Given the description of an element on the screen output the (x, y) to click on. 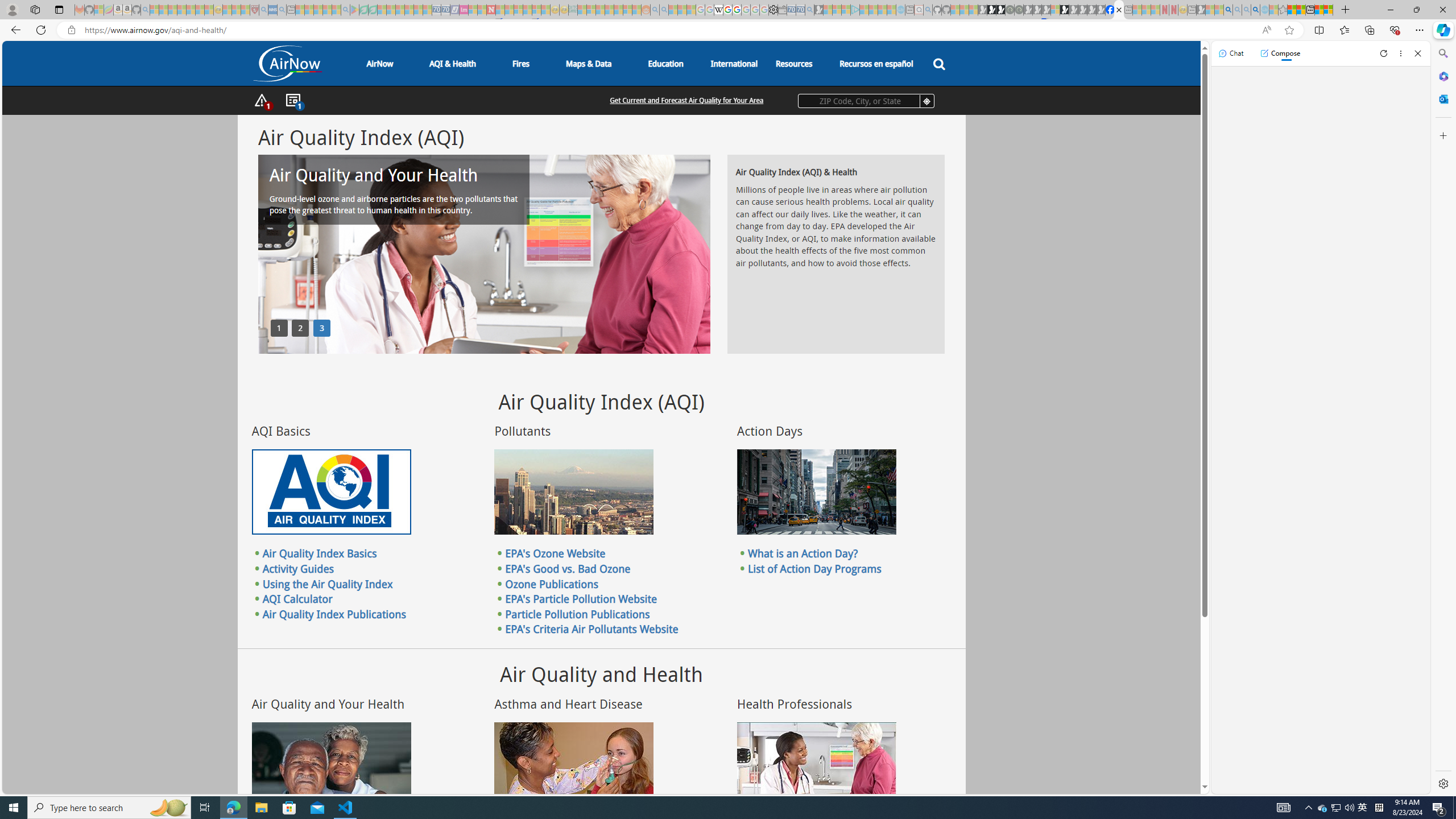
Health Professionals (816, 763)
EPA's Good vs. Bad Ozone (567, 568)
utah sues federal government - Search - Sleeping (281, 9)
